Given the description of an element on the screen output the (x, y) to click on. 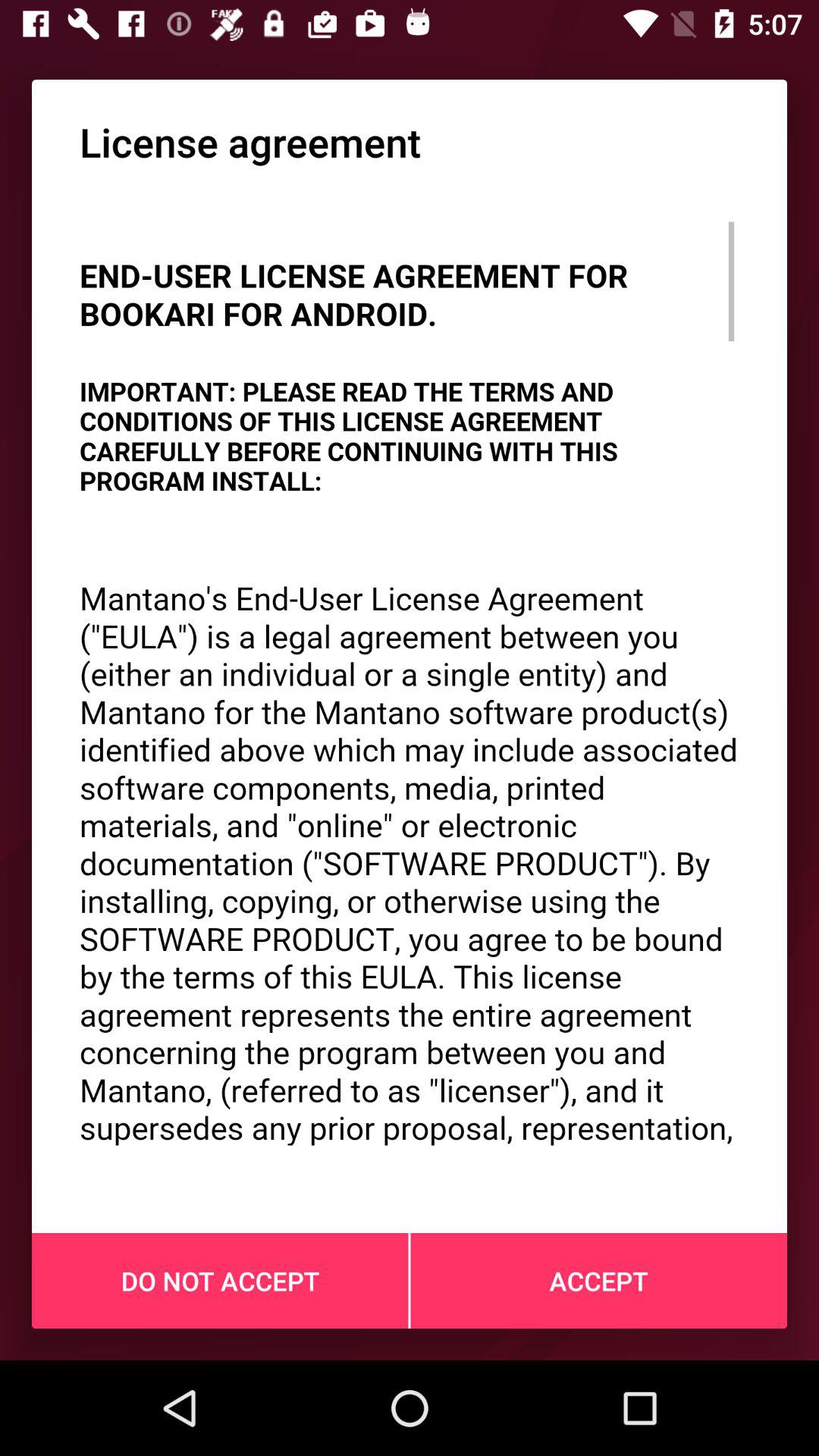
scroll to the do not accept icon (219, 1280)
